Given the description of an element on the screen output the (x, y) to click on. 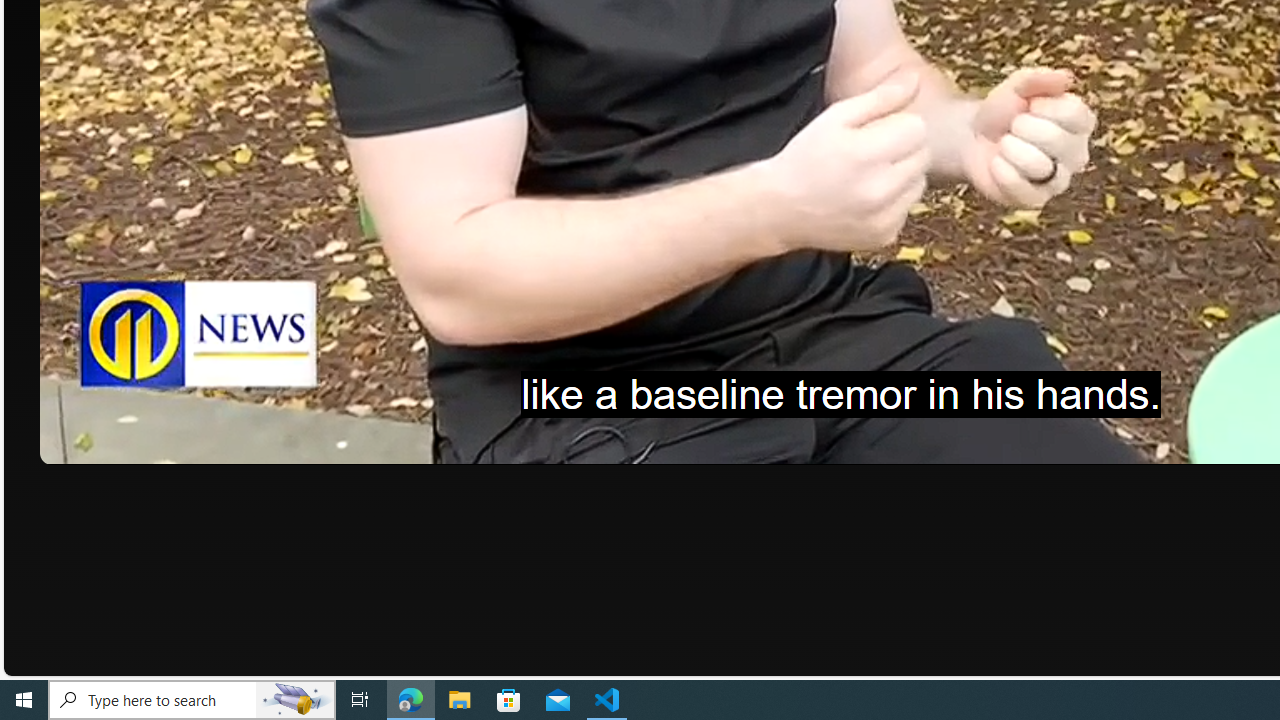
Pause (69, 442)
Seek Forward (150, 442)
Seek Back (109, 442)
